Given the description of an element on the screen output the (x, y) to click on. 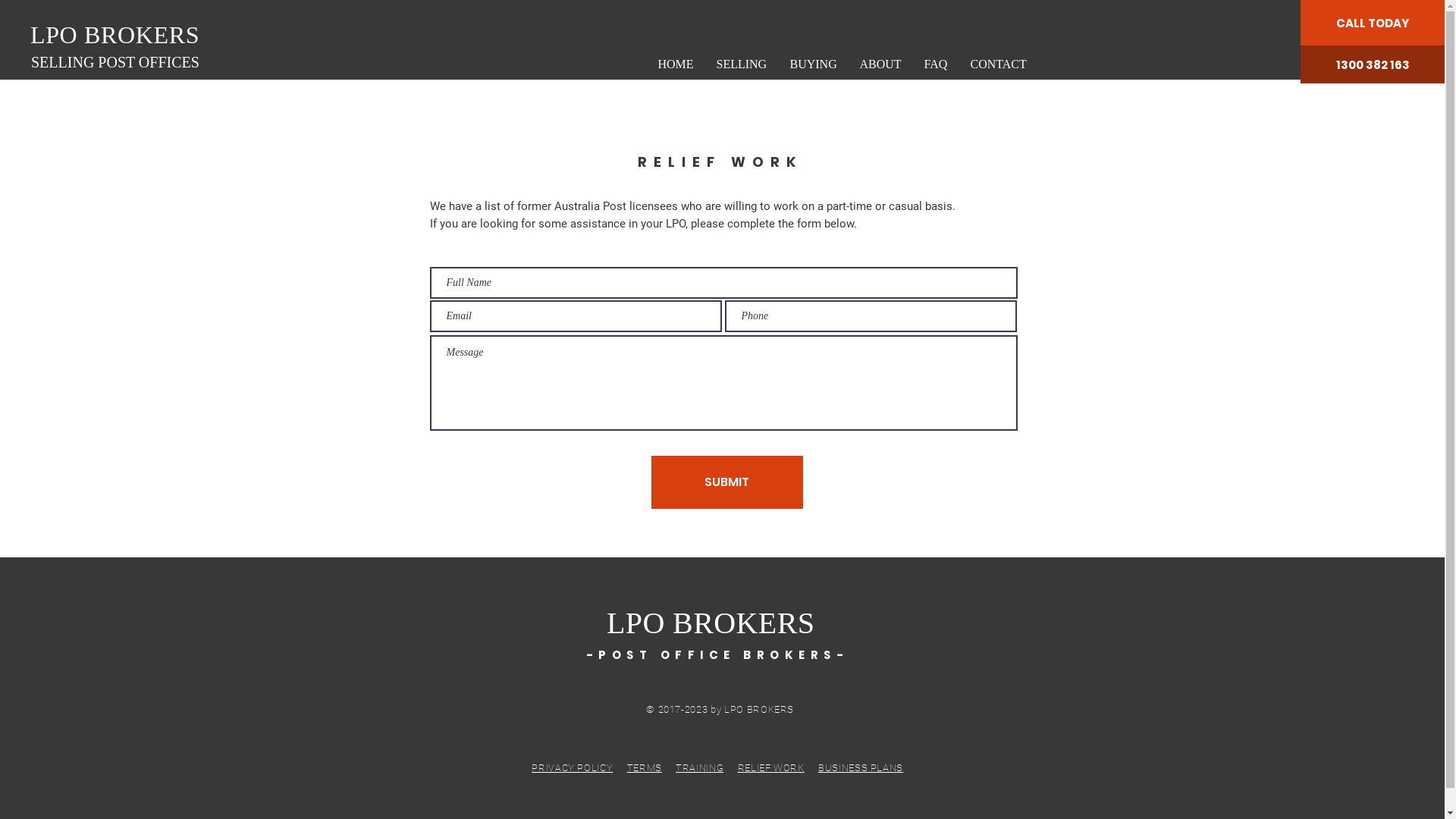
PRIVACY POLICY Element type: text (571, 767)
BUSINESS PLANS Element type: text (860, 767)
CONTACT Element type: text (997, 64)
SELLING Element type: text (741, 64)
ABOUT Element type: text (879, 64)
HOME Element type: text (675, 64)
BUYING Element type: text (812, 64)
RELIEF WORK Element type: text (770, 767)
TRAINING Element type: text (699, 767)
FAQ Element type: text (936, 64)
SUBMIT Element type: text (726, 481)
TERMS Element type: text (644, 767)
